Given the description of an element on the screen output the (x, y) to click on. 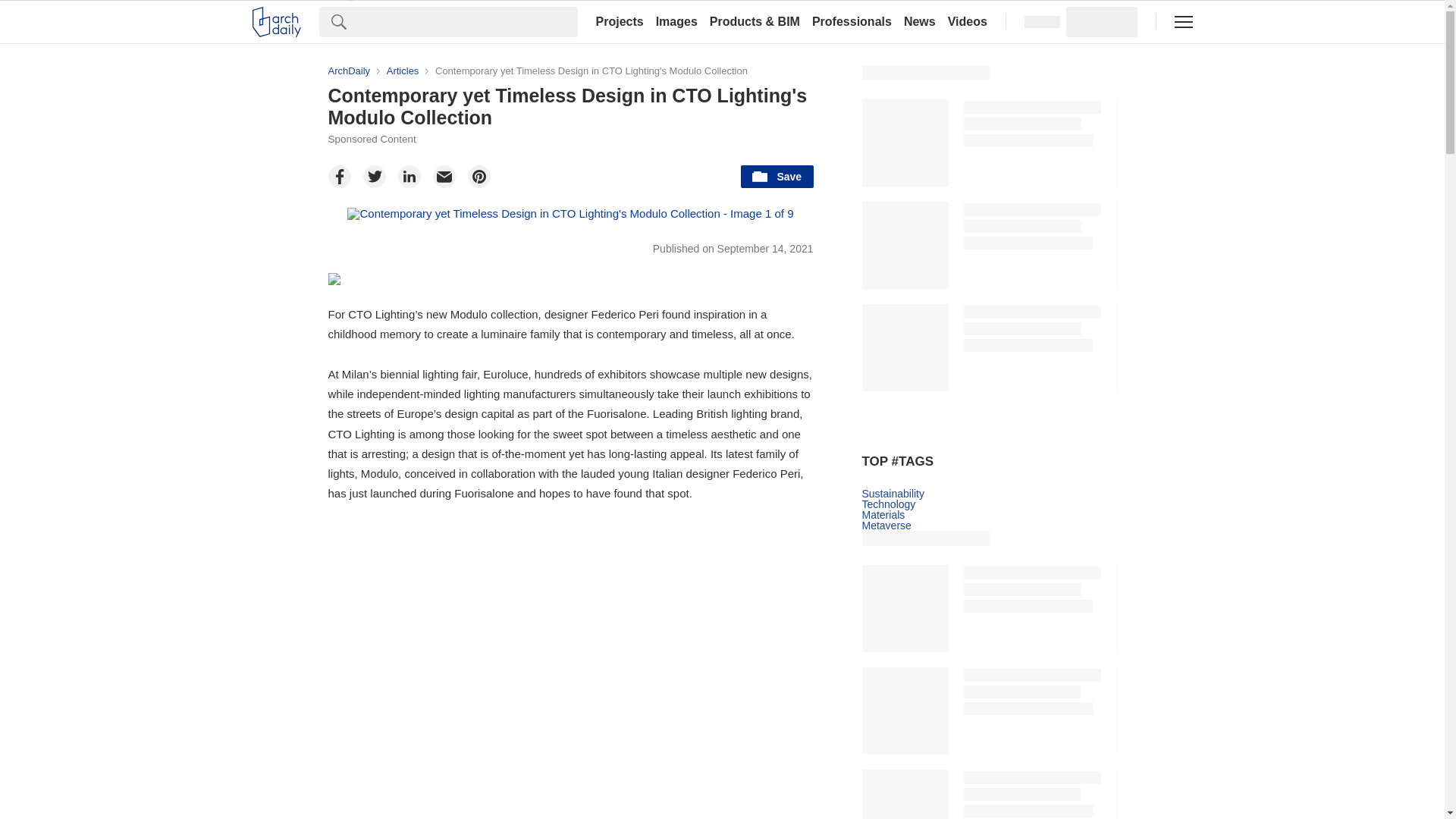
Videos (967, 21)
Projects (619, 21)
News (920, 21)
Professionals (852, 21)
Images (676, 21)
